Given the description of an element on the screen output the (x, y) to click on. 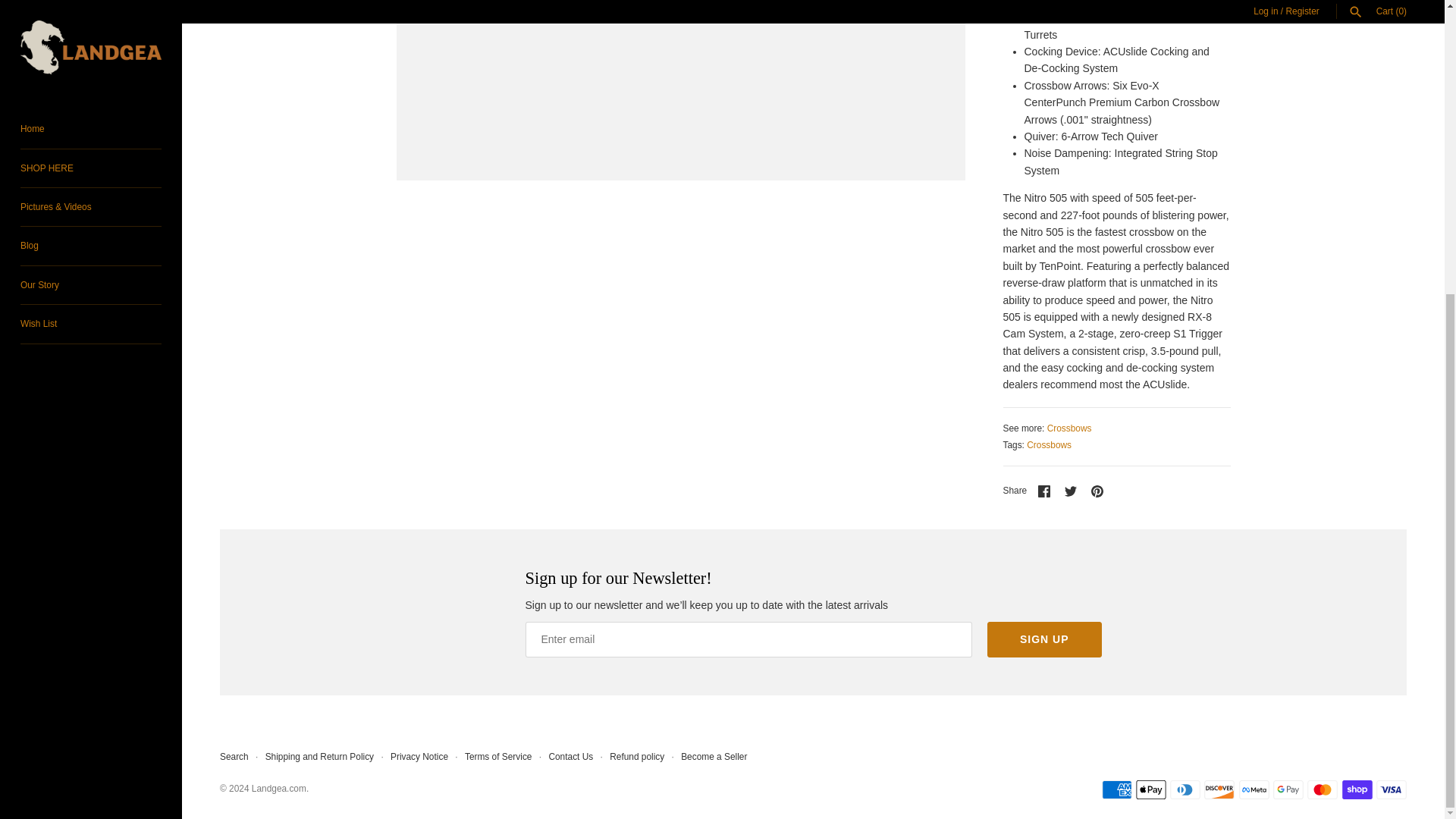
American Express (1115, 789)
Google Pay (1287, 789)
Meta Pay (1254, 789)
Crossbows (1069, 428)
Shop Pay (1357, 789)
Facebook (1043, 491)
Pinterest (1096, 491)
Diners Club (1184, 789)
Twitter (1070, 491)
Apple Pay (1150, 789)
